Given the description of an element on the screen output the (x, y) to click on. 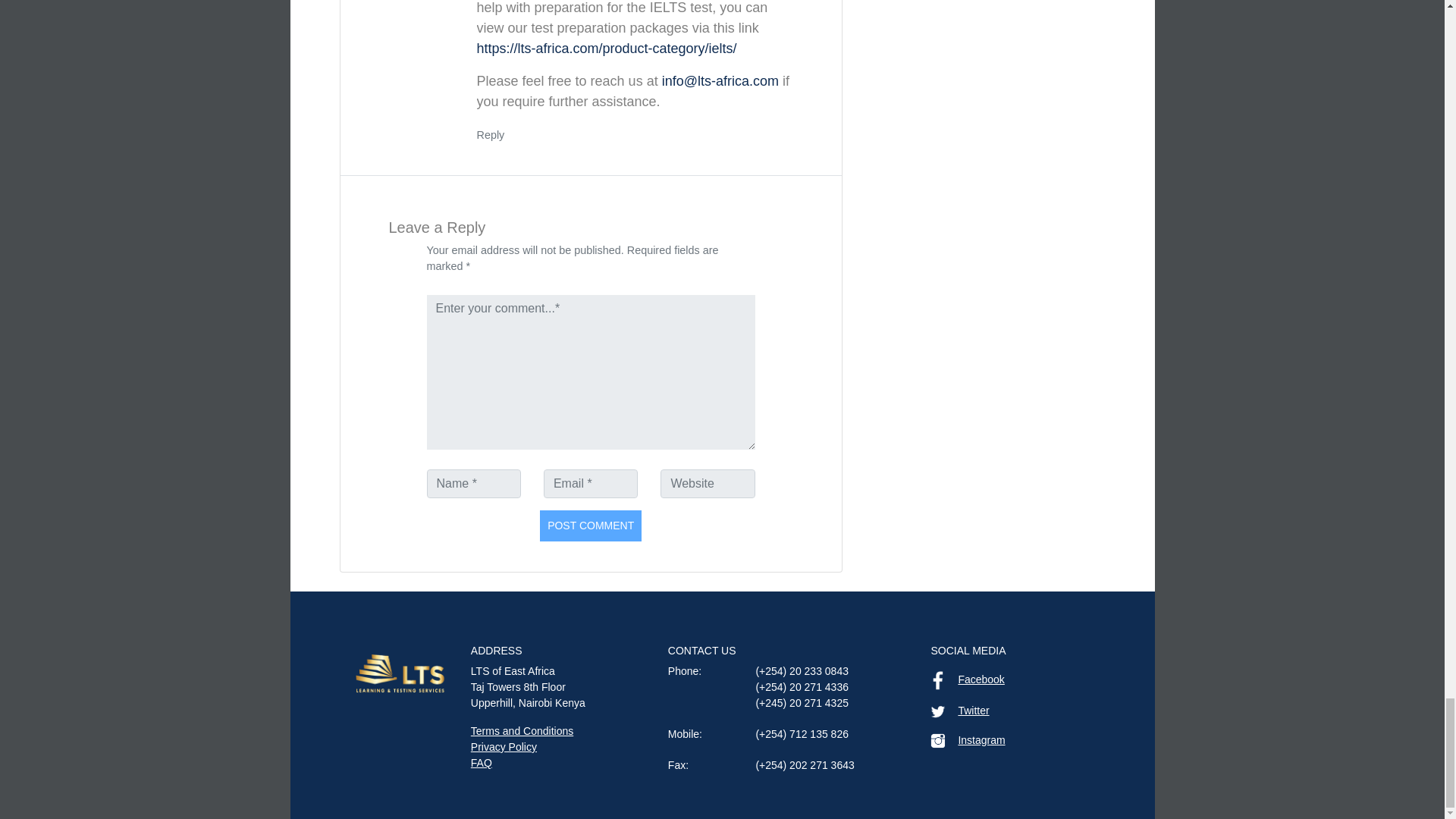
Post Comment (591, 525)
